Given the description of an element on the screen output the (x, y) to click on. 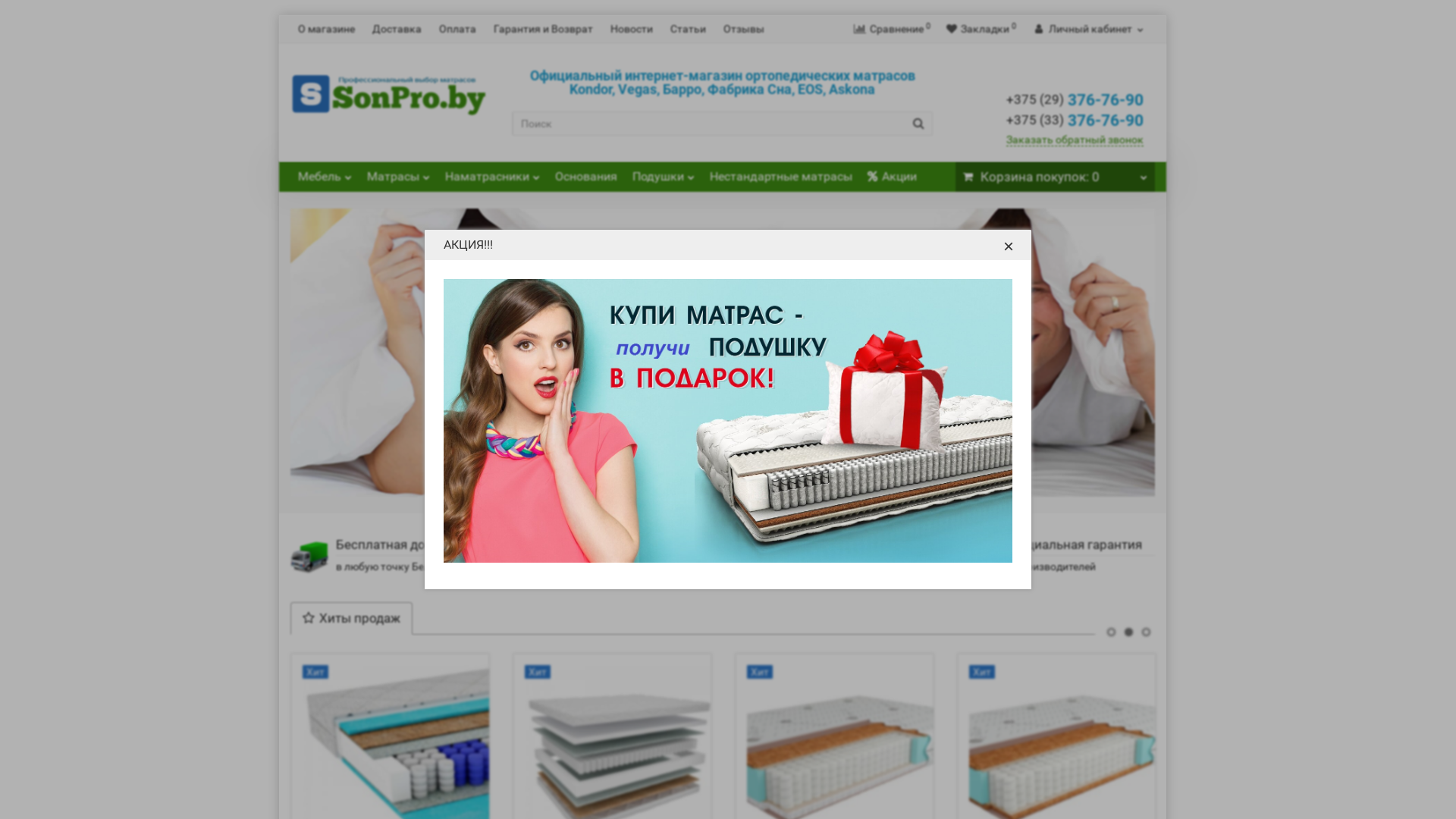
+375 (33) 376-76-90 Element type: text (1073, 120)
+375 (29) 376-76-90 Element type: text (1073, 100)
SonPro.by Element type: hover (389, 87)
